Given the description of an element on the screen output the (x, y) to click on. 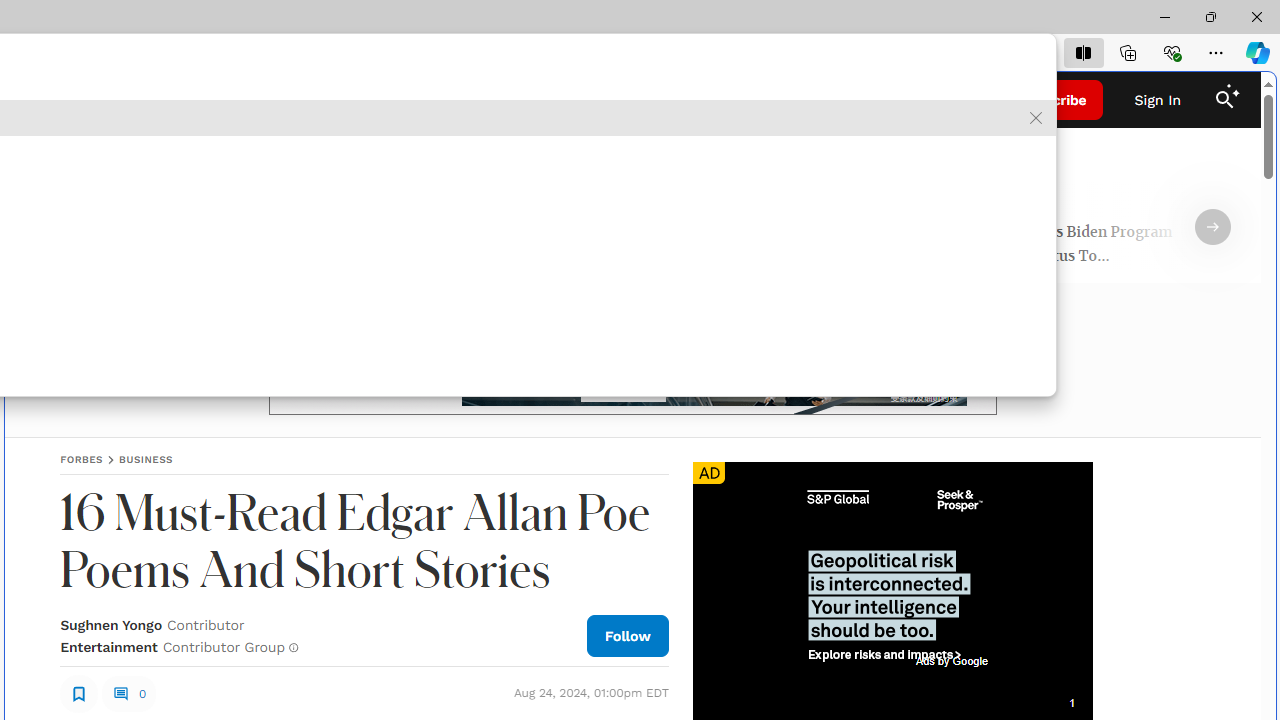
Remove suggestion (1036, 117)
To get missing image descriptions, open the context menu. (892, 574)
Class: envelope_svg__fs-icon envelope_svg__fs-icon--envelope (262, 102)
Open Navigation Menu (40, 99)
